Given the description of an element on the screen output the (x, y) to click on. 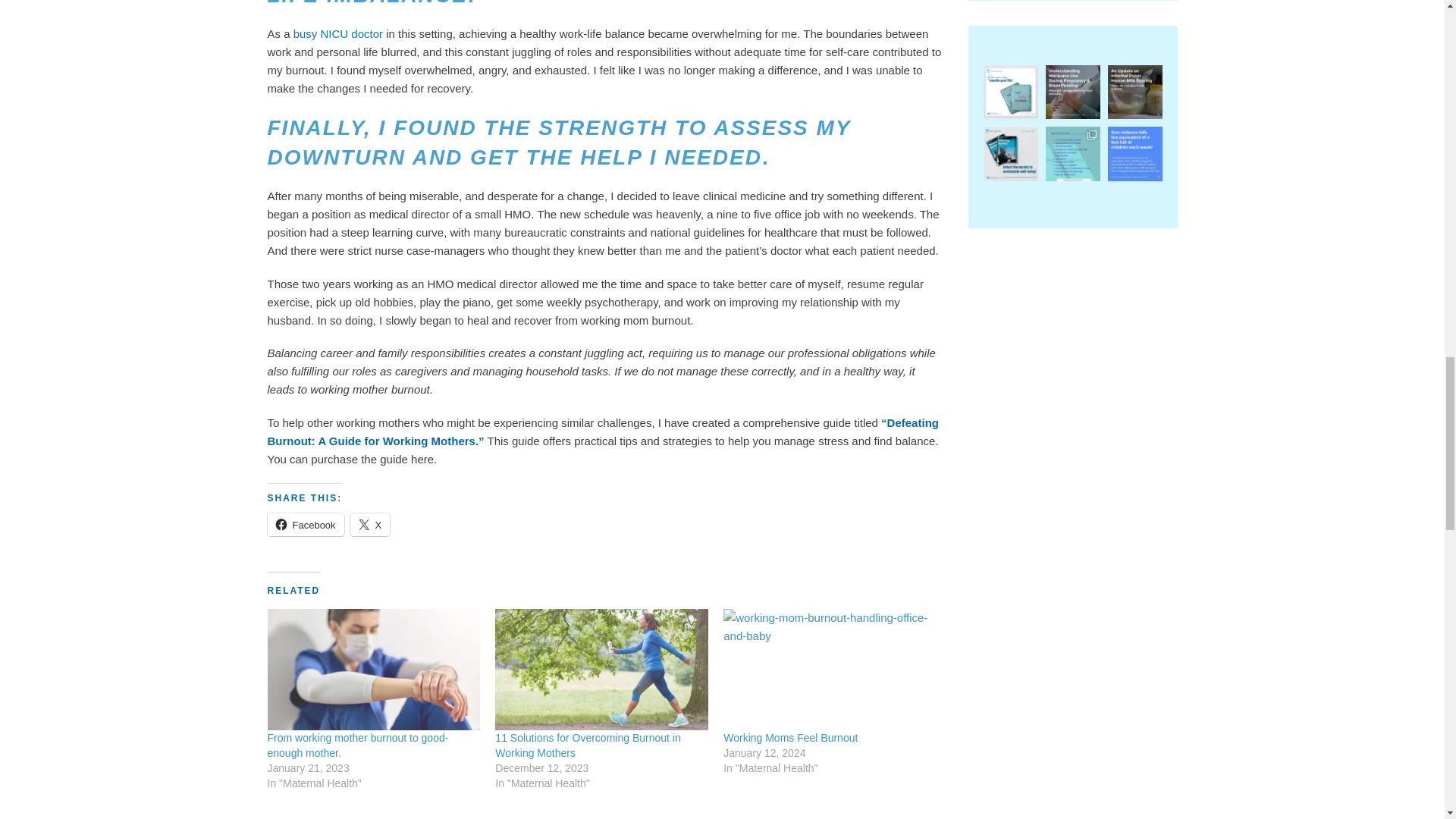
busy NICU doctor (338, 33)
Facebook (304, 524)
Working Moms Feel Burnout (790, 737)
Click to share on X (370, 524)
Working Moms Feel Burnout (790, 737)
From working mother burnout to good-enough mother. (373, 669)
X (370, 524)
From working mother burnout to good-enough mother. (357, 745)
11 Solutions for Overcoming Burnout in Working Mothers (587, 745)
Click to share on Facebook (304, 524)
Working Moms Feel Burnout (829, 669)
11 Solutions for Overcoming Burnout in Working Mothers (587, 745)
11 Solutions for Overcoming Burnout in Working Mothers (601, 669)
From working mother burnout to good-enough mother. (357, 745)
